Given the description of an element on the screen output the (x, y) to click on. 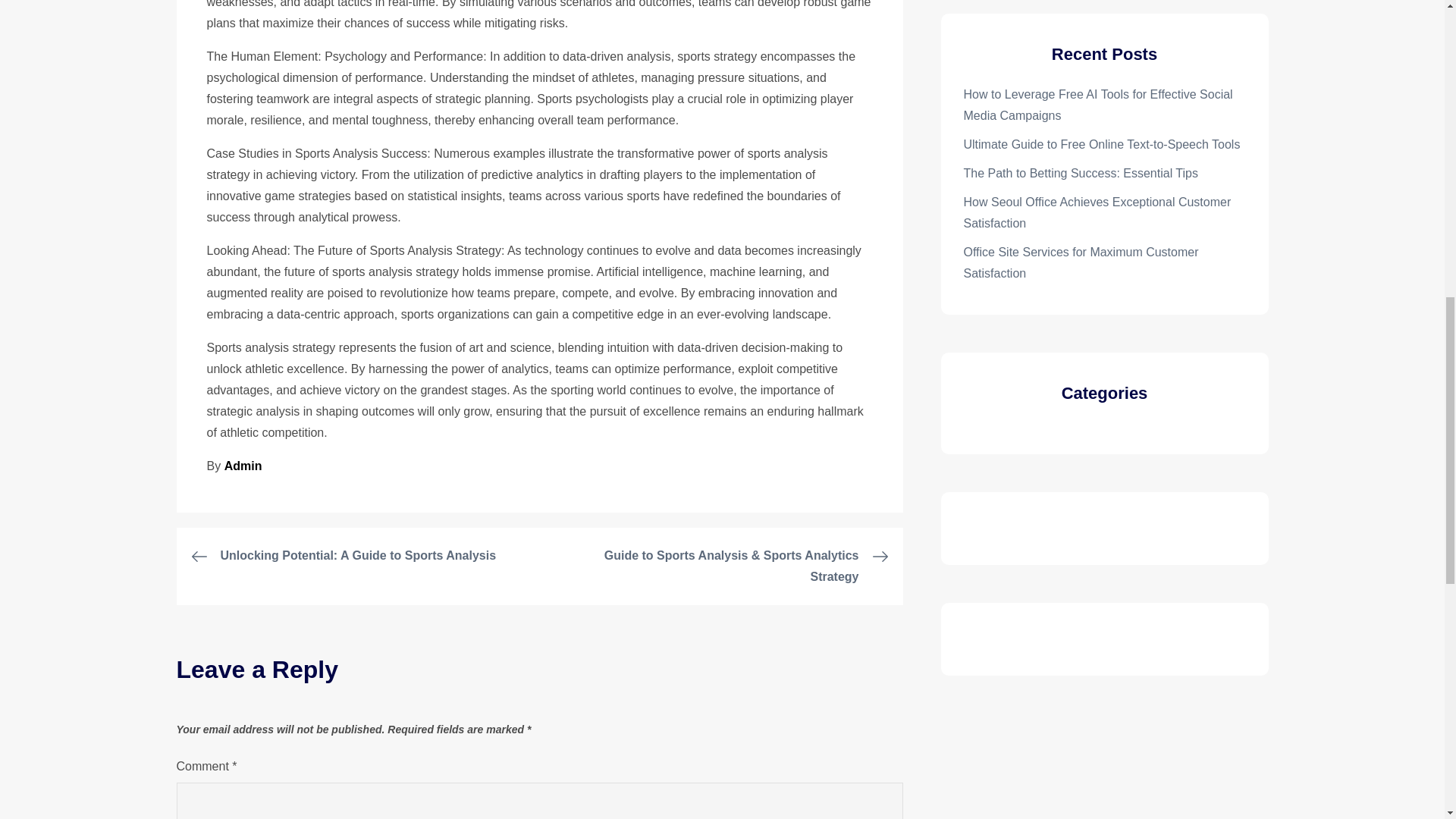
Admin (243, 465)
